Given the description of an element on the screen output the (x, y) to click on. 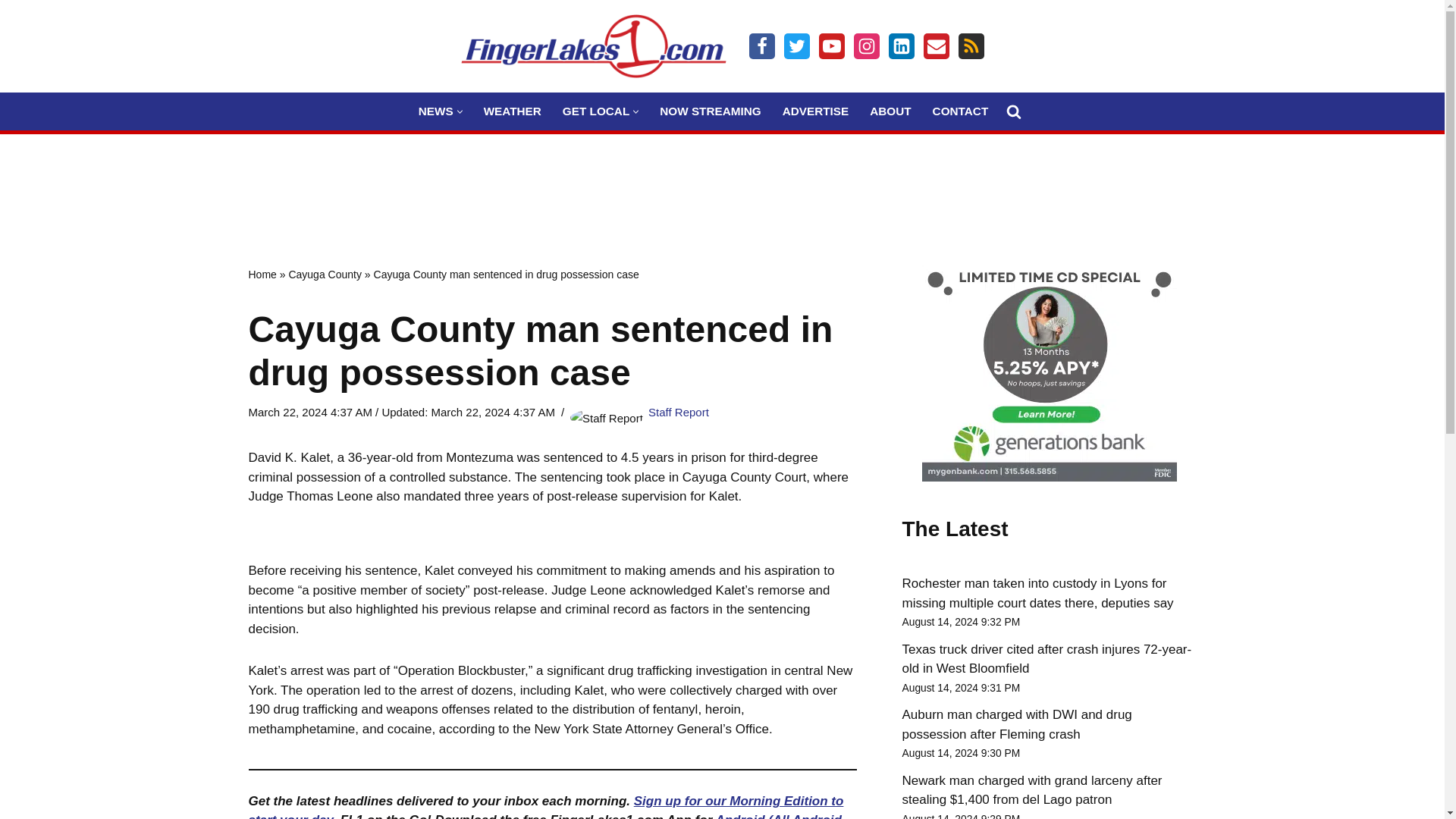
Facebook (761, 45)
Email Us (936, 45)
LinkIn (901, 45)
NOW STREAMING (709, 111)
WEATHER (512, 111)
ADVERTISE (815, 111)
NEWS (435, 111)
GET LOCAL (595, 111)
Instagram (866, 45)
Youtube (831, 45)
